Given the description of an element on the screen output the (x, y) to click on. 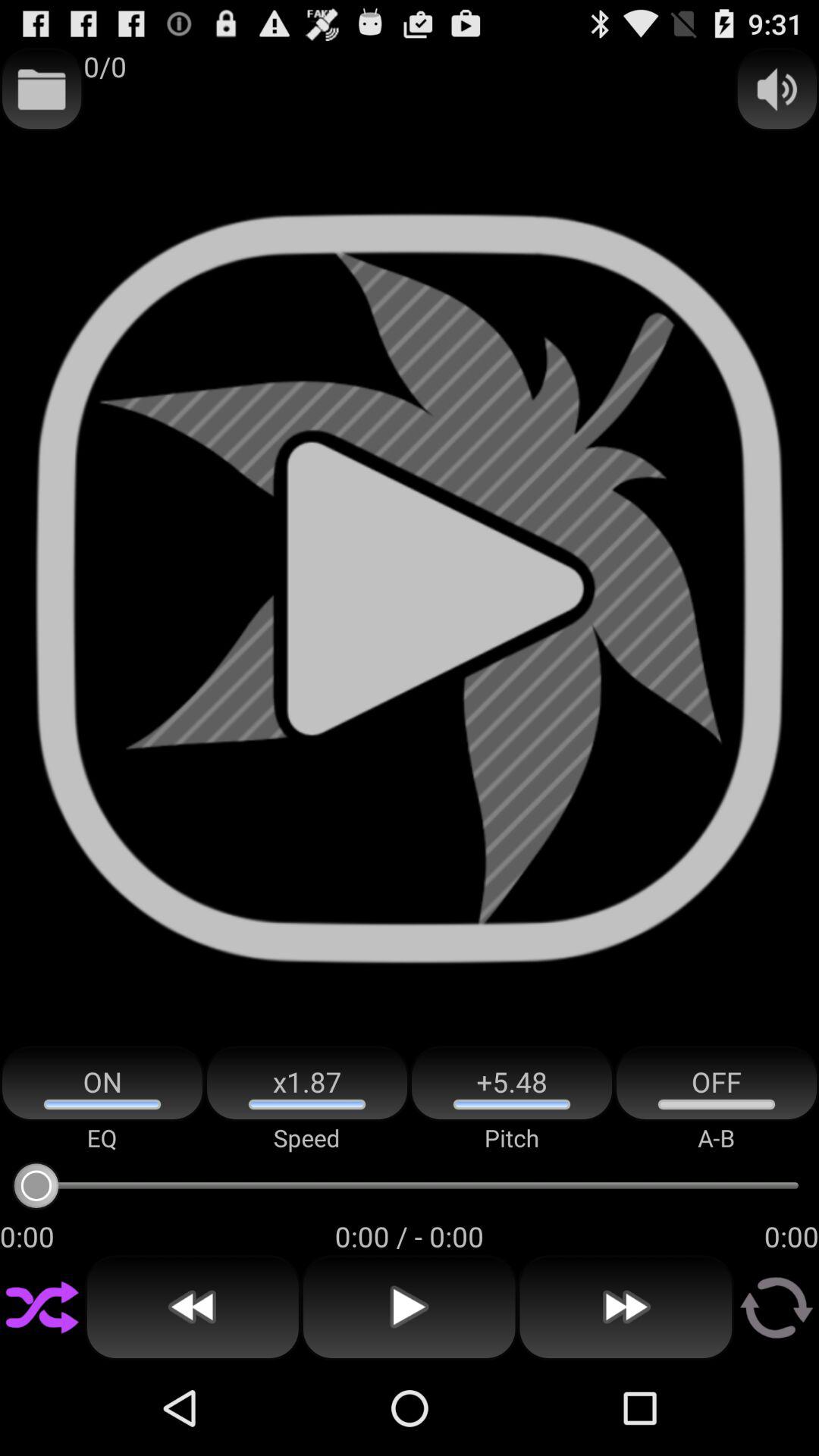
open the app above the speed item (306, 1083)
